Given the description of an element on the screen output the (x, y) to click on. 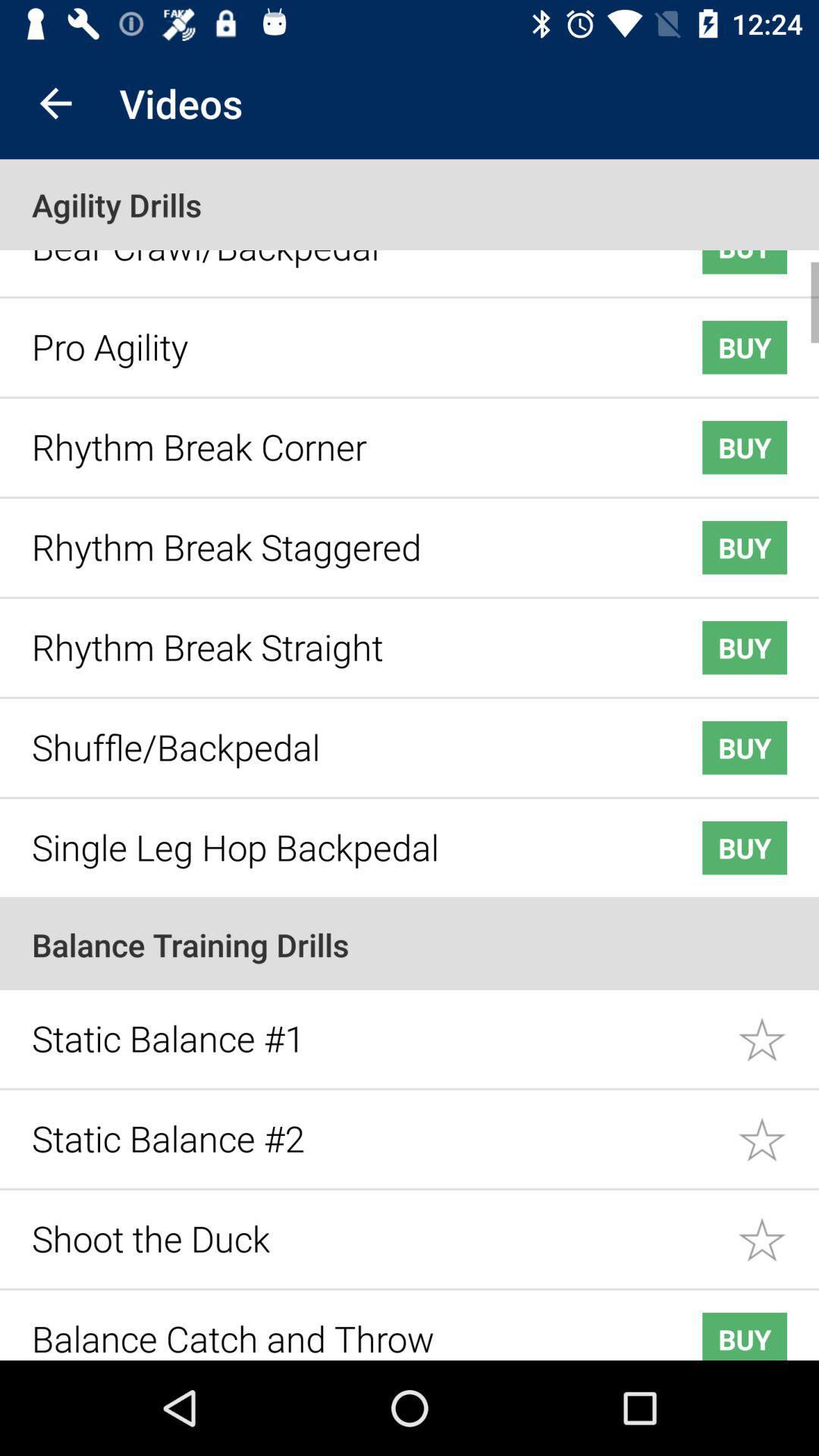
launch item to the left of the buy (342, 1327)
